Given the description of an element on the screen output the (x, y) to click on. 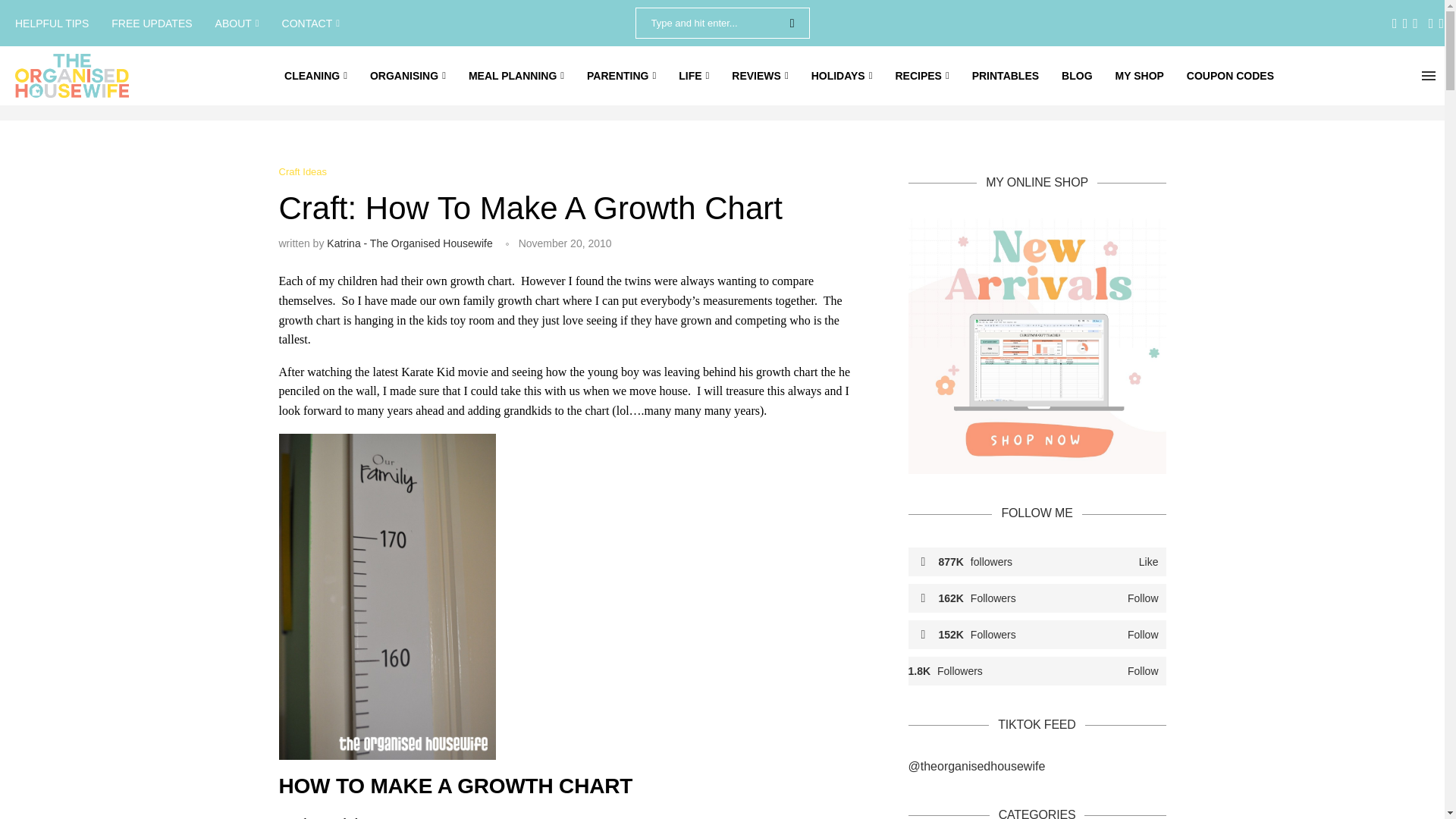
Type and hit enter... (721, 22)
